Given the description of an element on the screen output the (x, y) to click on. 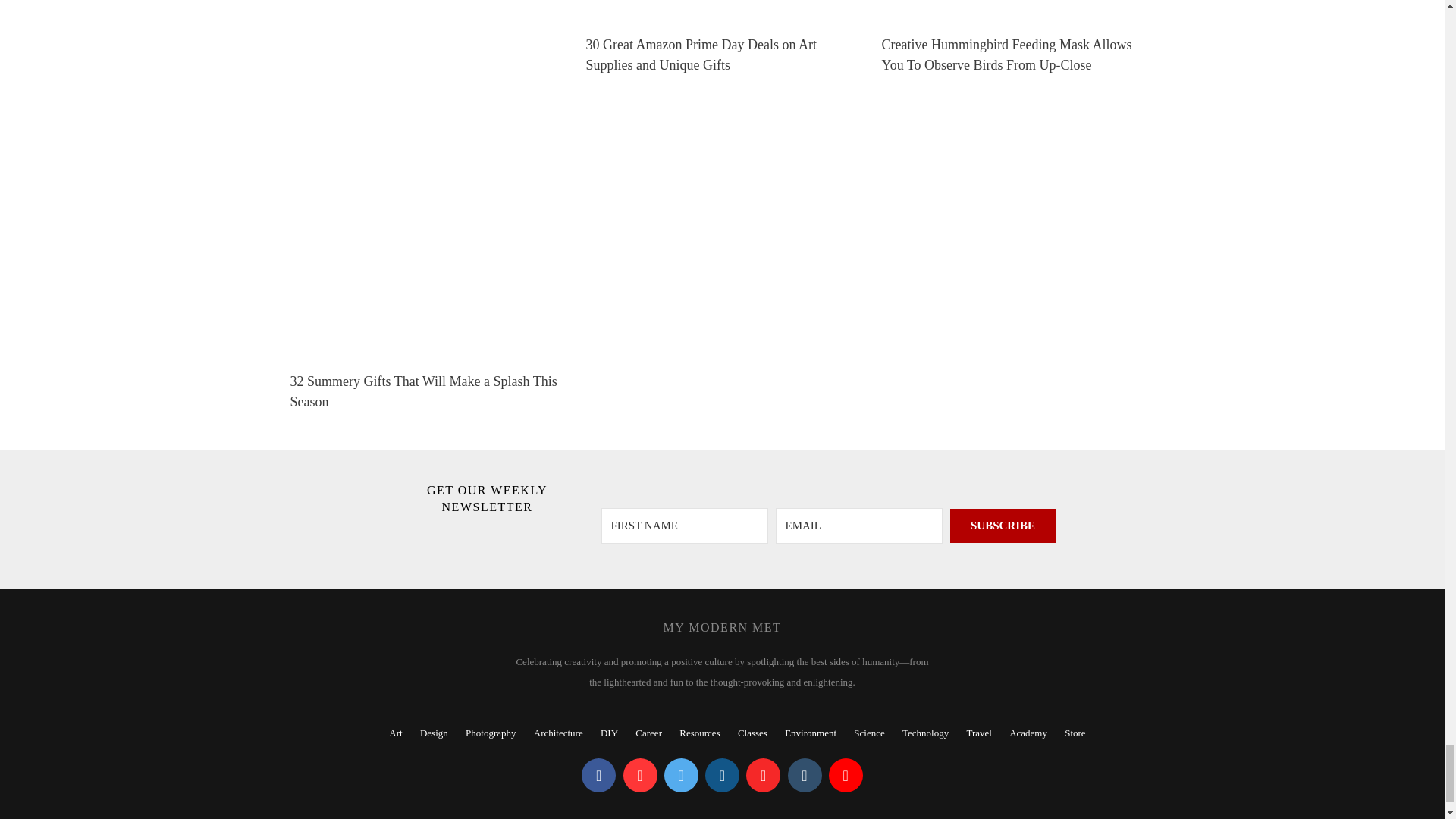
My Modern Met on Pinterest (640, 775)
My Modern Met on Instagram (721, 775)
My Modern Met on Tumblr (804, 775)
My Modern Met on YouTube (845, 775)
My Modern Met on Facebook (597, 775)
My Modern Met on Twitter (680, 775)
